Given the description of an element on the screen output the (x, y) to click on. 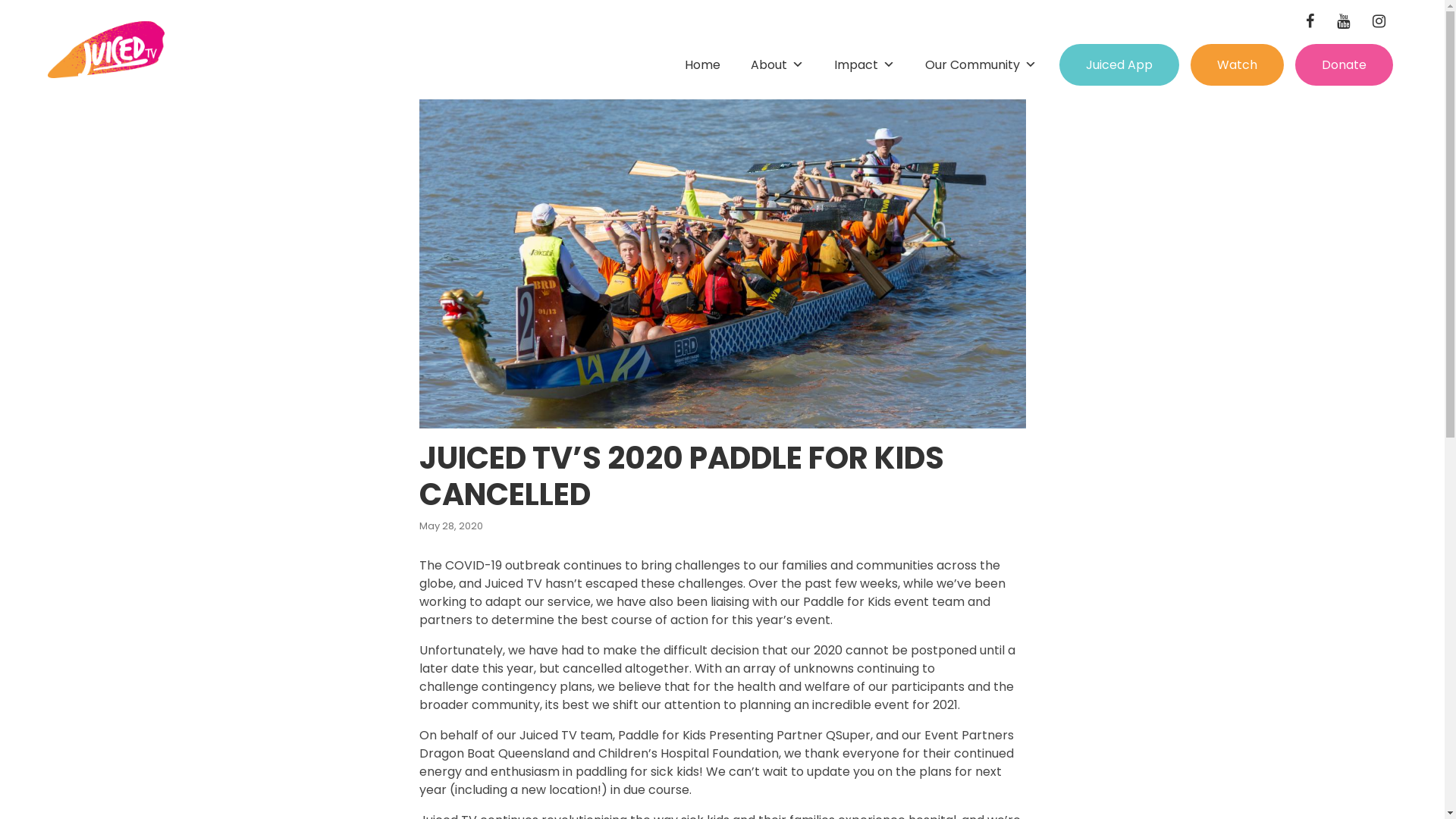
Impact Element type: text (864, 64)
Our Community Element type: text (980, 64)
About Element type: text (777, 64)
Juiced App Element type: text (1119, 64)
Donate Element type: text (1344, 64)
Watch Element type: text (1236, 64)
Home Element type: text (702, 64)
